Given the description of an element on the screen output the (x, y) to click on. 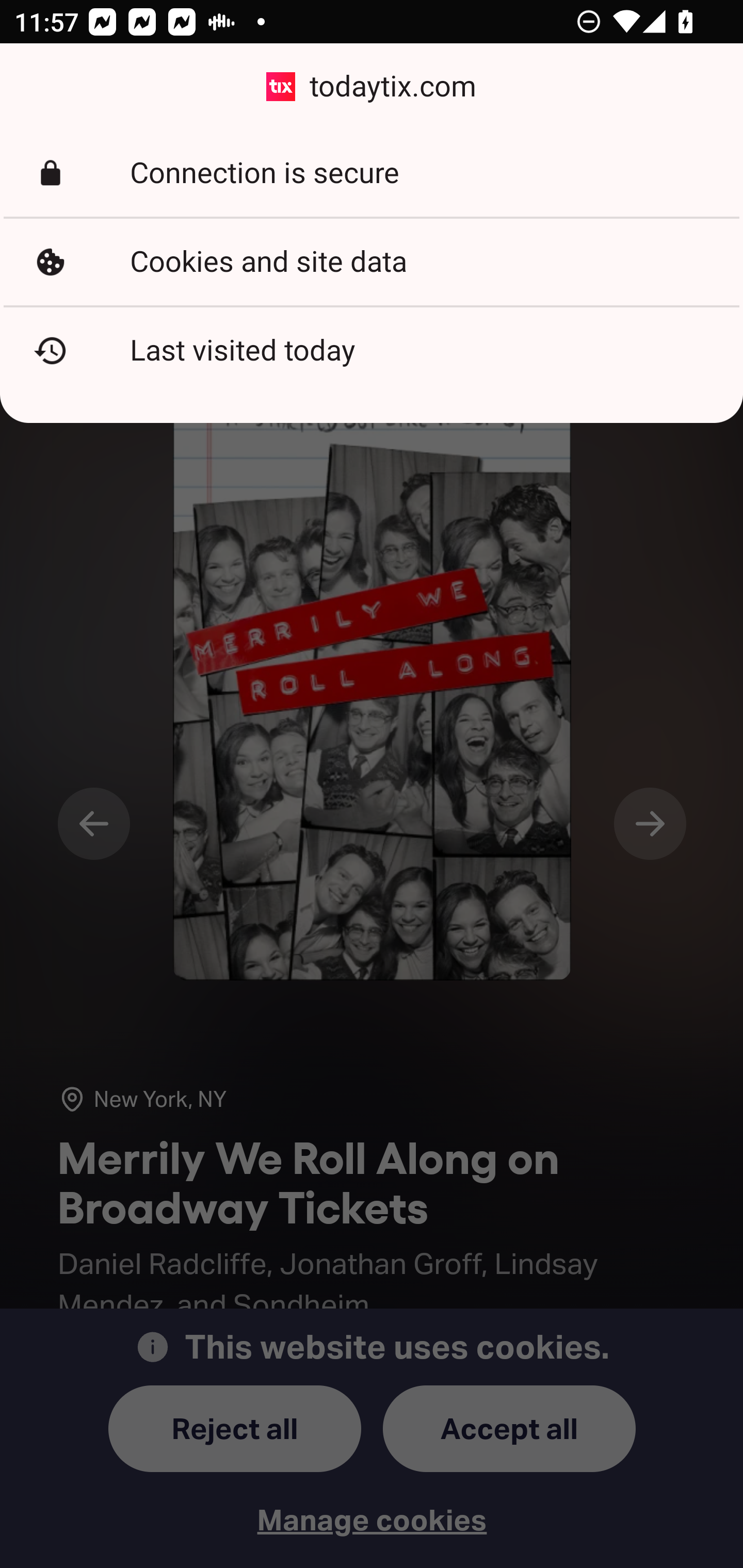
todaytix.com (371, 86)
Connection is secure (371, 173)
Cookies and site data (371, 261)
Last visited today (371, 350)
